Given the description of an element on the screen output the (x, y) to click on. 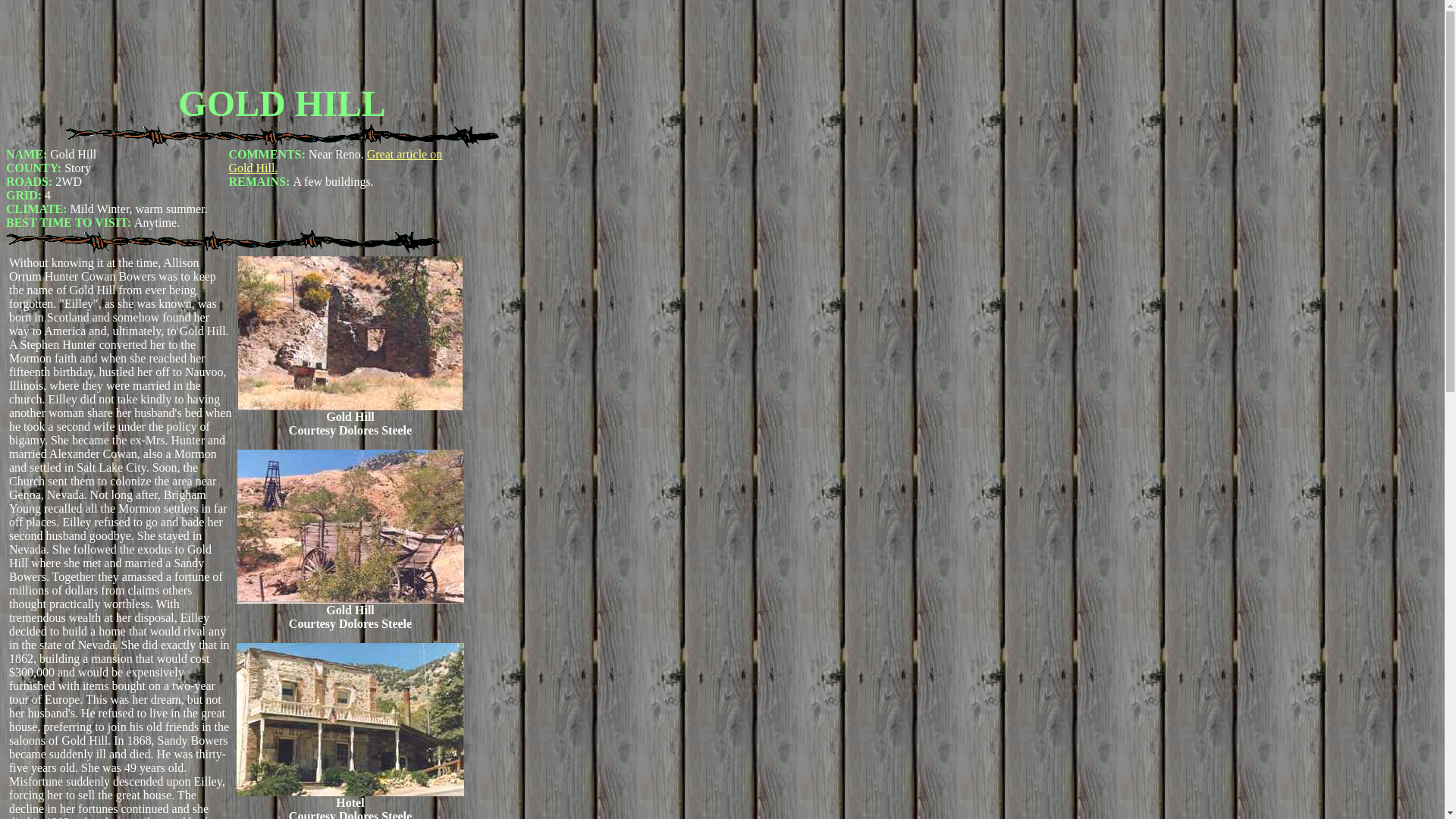
Great article on Gold Hill. (335, 161)
